Given the description of an element on the screen output the (x, y) to click on. 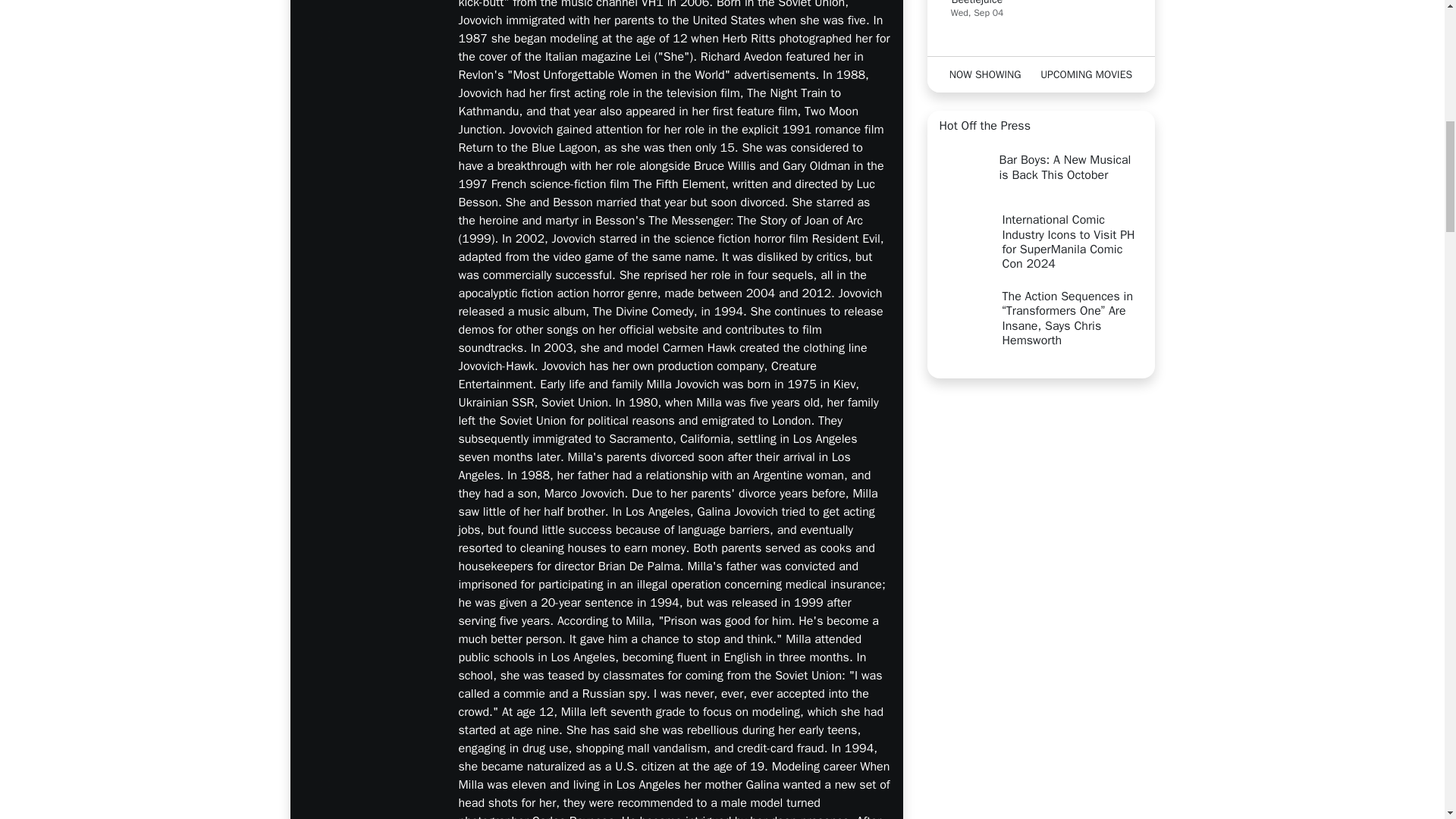
Now Showing (984, 74)
Bar Boys: A New Musical is Back This October (1040, 176)
Upcoming Movies (1086, 74)
